Given the description of an element on the screen output the (x, y) to click on. 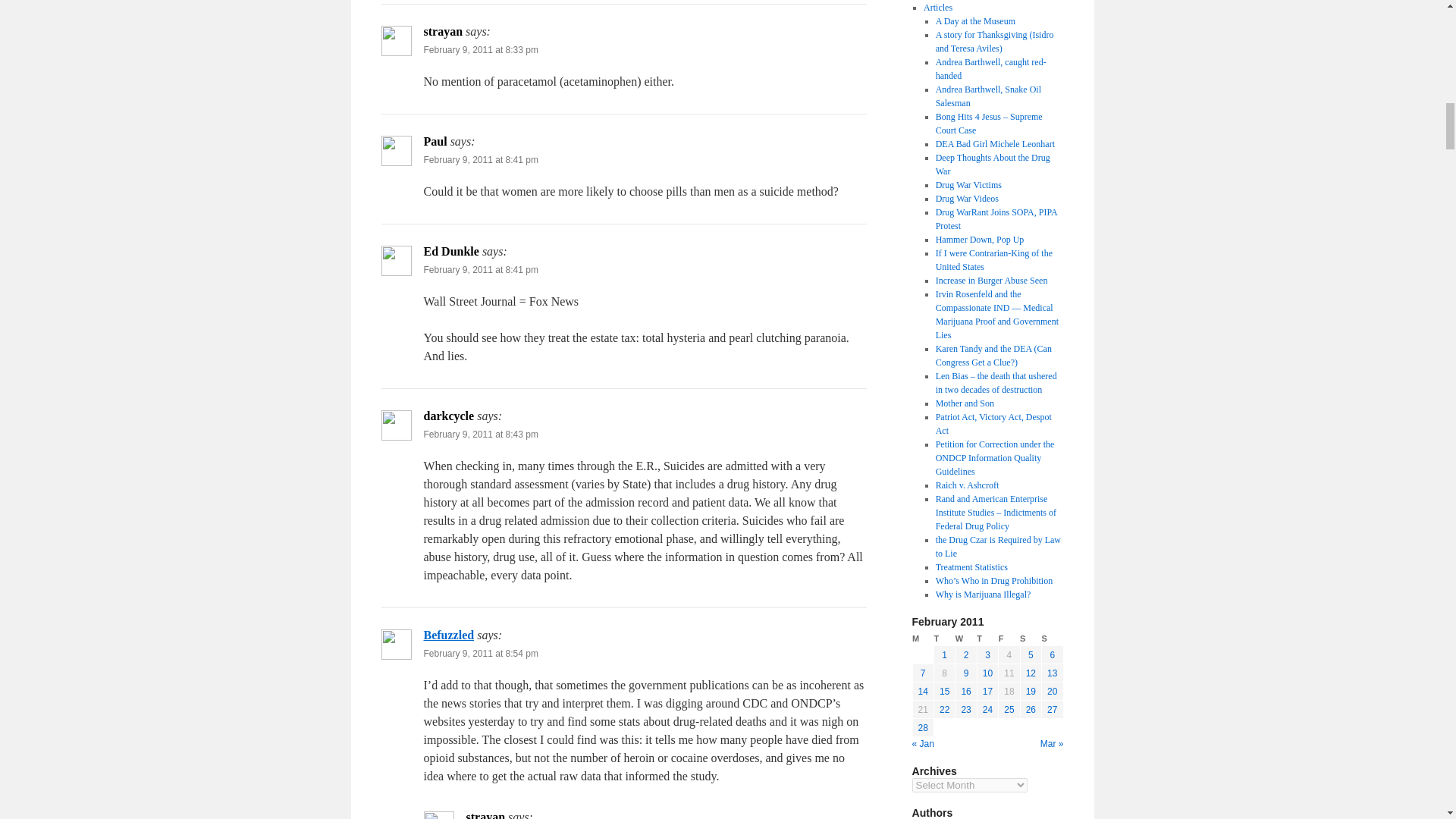
Tuesday (944, 638)
Thursday (986, 638)
Sunday (1052, 638)
Monday (922, 638)
Wednesday (965, 638)
Friday (1009, 638)
Saturday (1030, 638)
